Given the description of an element on the screen output the (x, y) to click on. 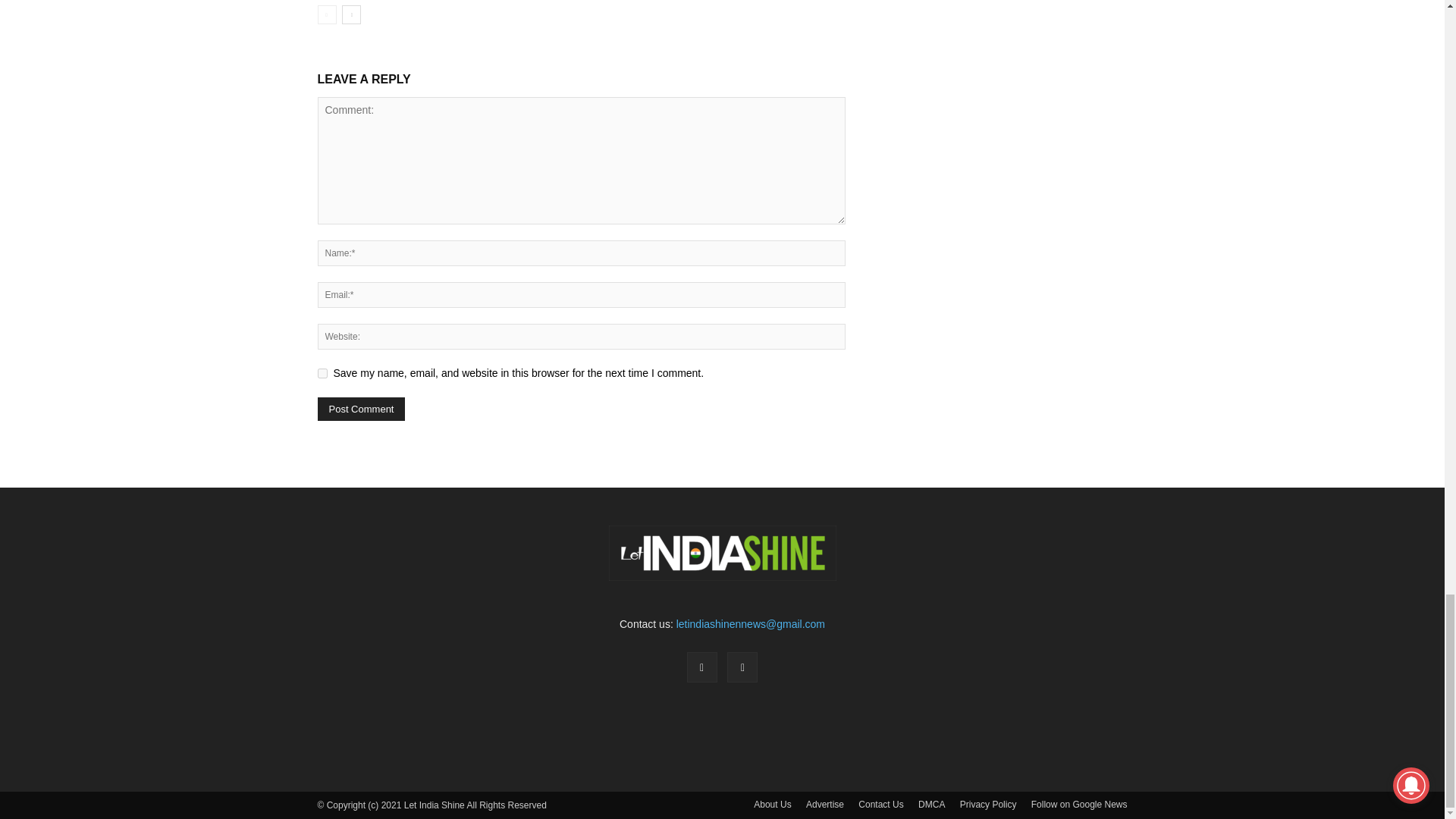
yes (321, 373)
Post Comment (360, 408)
